Given the description of an element on the screen output the (x, y) to click on. 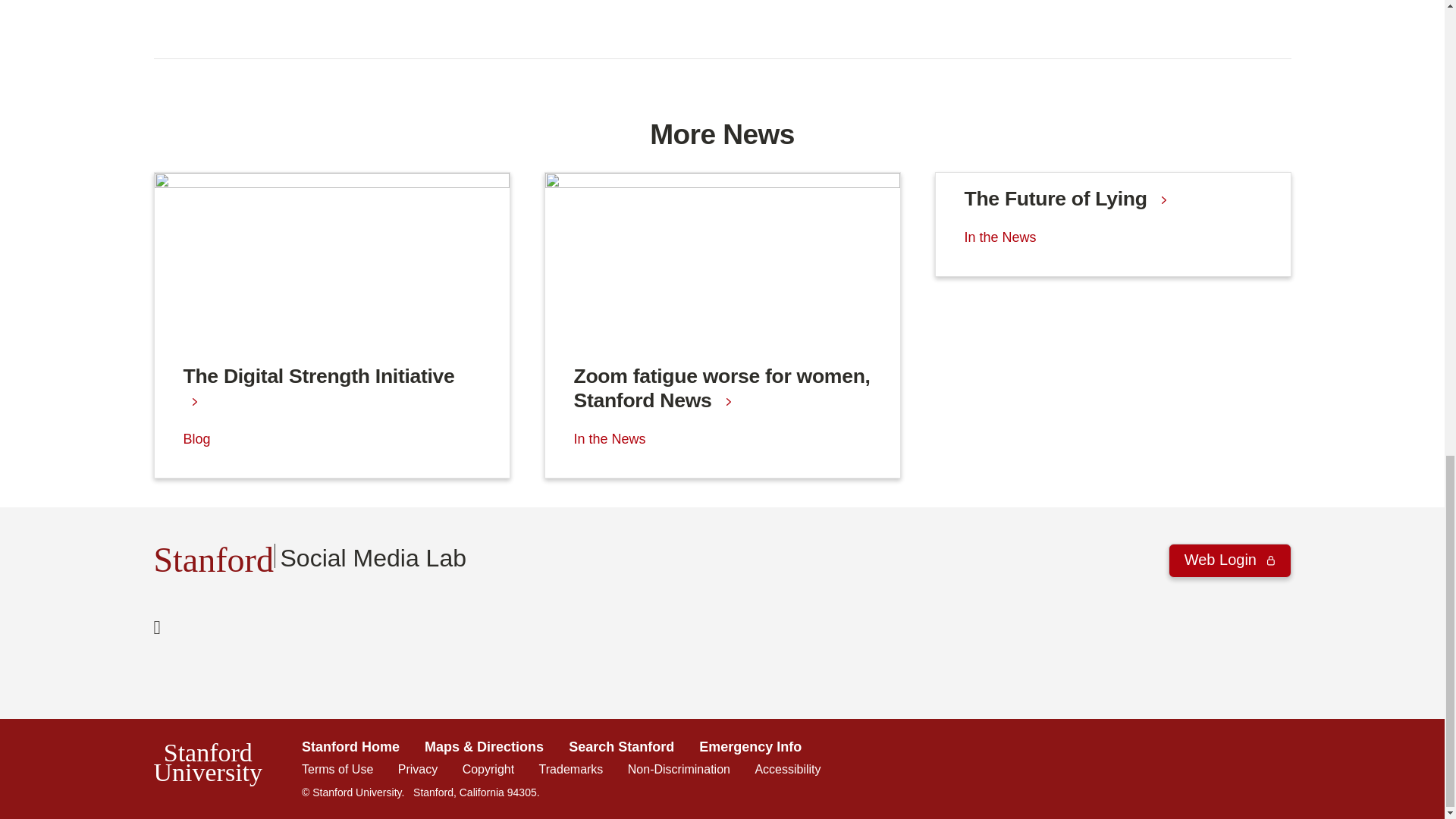
Non-discrimination policy (678, 768)
Ownership and use of Stanford trademarks and images (571, 768)
Blog (197, 438)
The Digital Strength Initiative (331, 303)
Privacy and cookie policy (417, 768)
Terms of use for sites (336, 768)
Report web accessibility issues (787, 768)
Report alleged copyright infringement (488, 768)
